Given the description of an element on the screen output the (x, y) to click on. 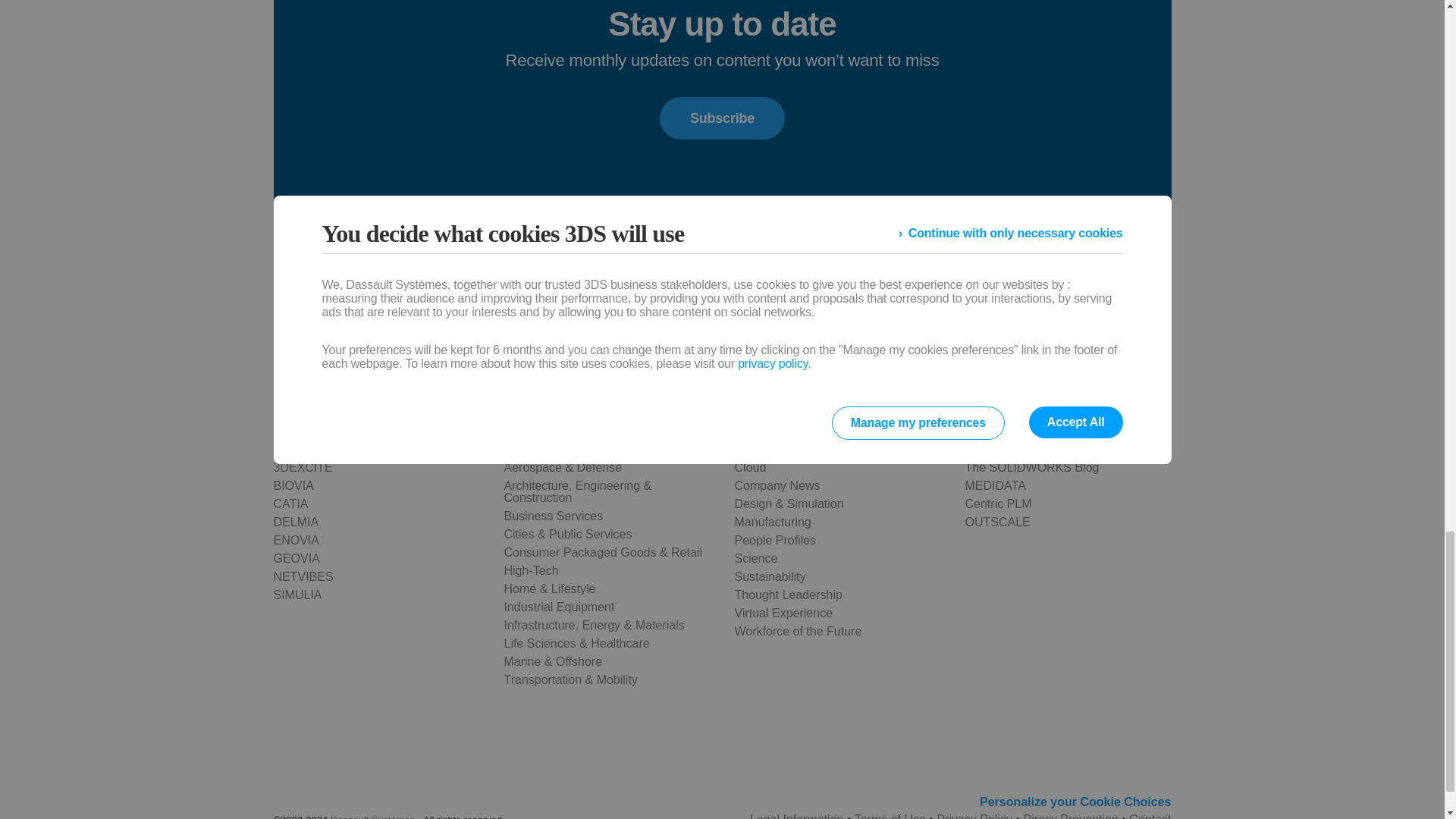
Twitter account (502, 351)
Facebook account (463, 351)
Linkedin account (541, 351)
